Given the description of an element on the screen output the (x, y) to click on. 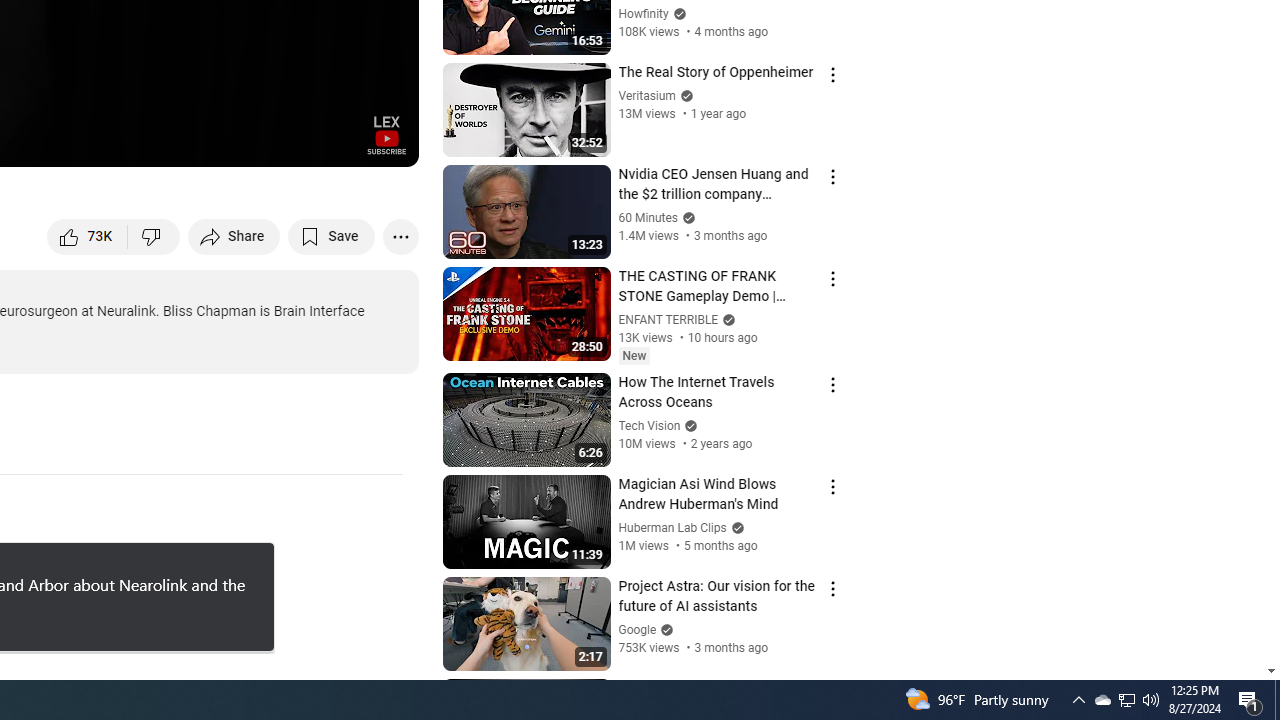
Save to playlist (331, 236)
New (634, 356)
More actions (399, 236)
like this video along with 73,133 other people (88, 236)
Full screen (f) (382, 142)
Subtitles/closed captions unavailable (190, 142)
Theater mode (t) (333, 142)
Channel watermark (386, 134)
Channel watermark (386, 134)
Verified (664, 629)
